Given the description of an element on the screen output the (x, y) to click on. 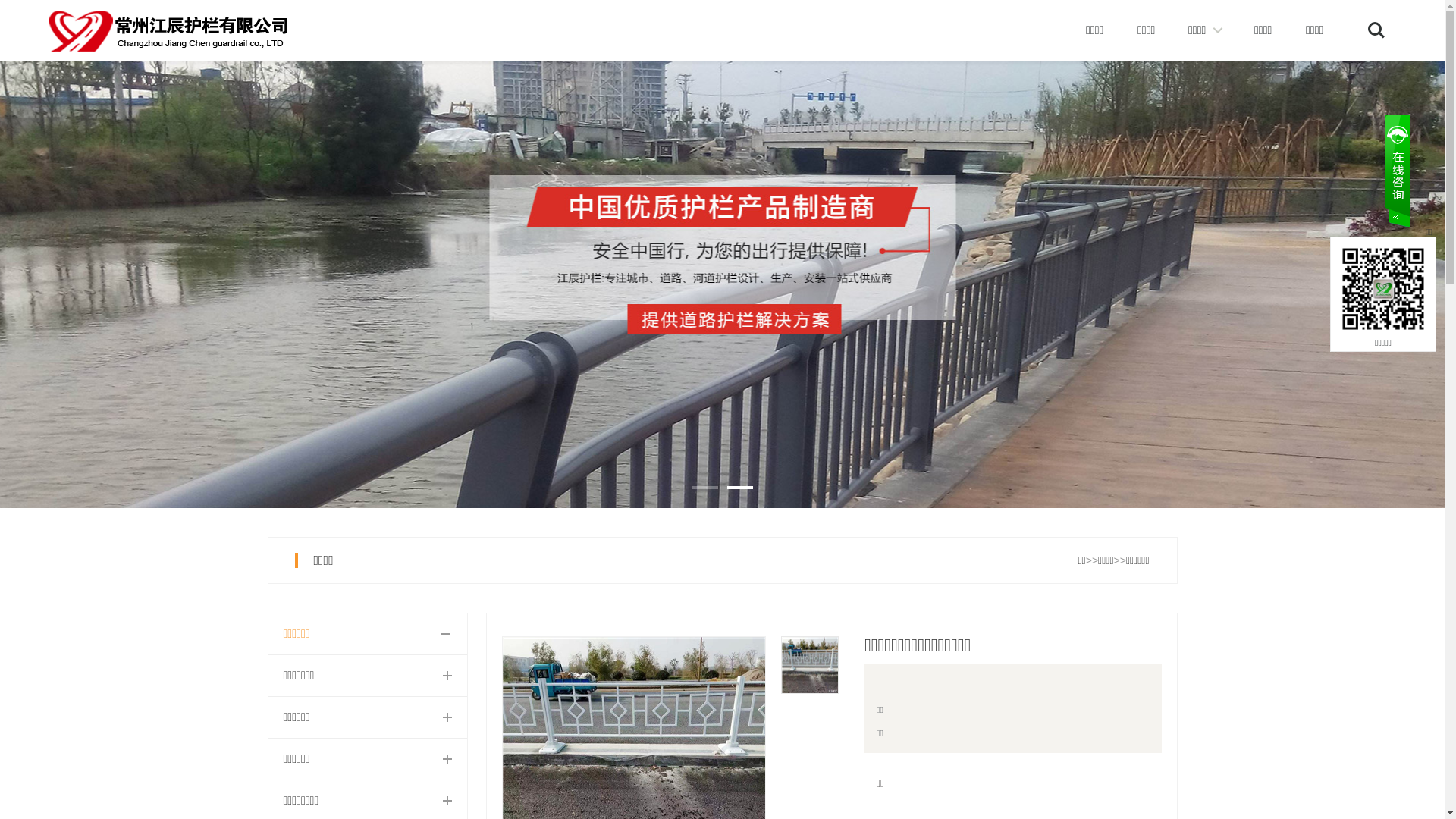
Search Element type: text (1376, 30)
LOGO Element type: hover (181, 31)
  Element type: text (1395, 172)
0 Element type: text (722, 254)
